Given the description of an element on the screen output the (x, y) to click on. 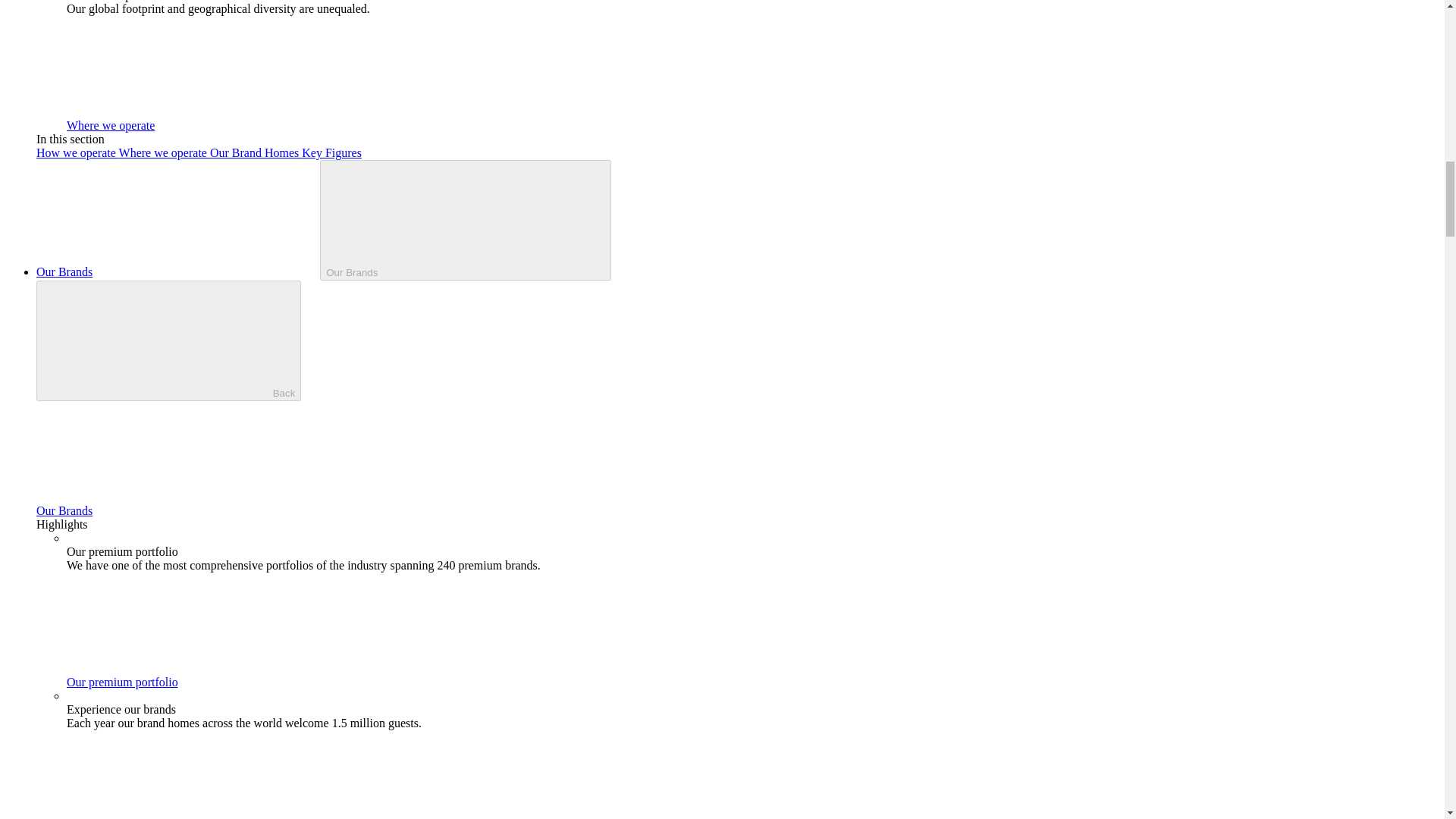
Back (168, 340)
Key Figures (331, 152)
Our Brand Homes (255, 152)
Our premium portfolio (236, 681)
How we operate (77, 152)
Our Brands (178, 271)
Our Brands (178, 510)
Our Brands (465, 219)
Where we operate (223, 124)
Where we operate (164, 152)
